Given the description of an element on the screen output the (x, y) to click on. 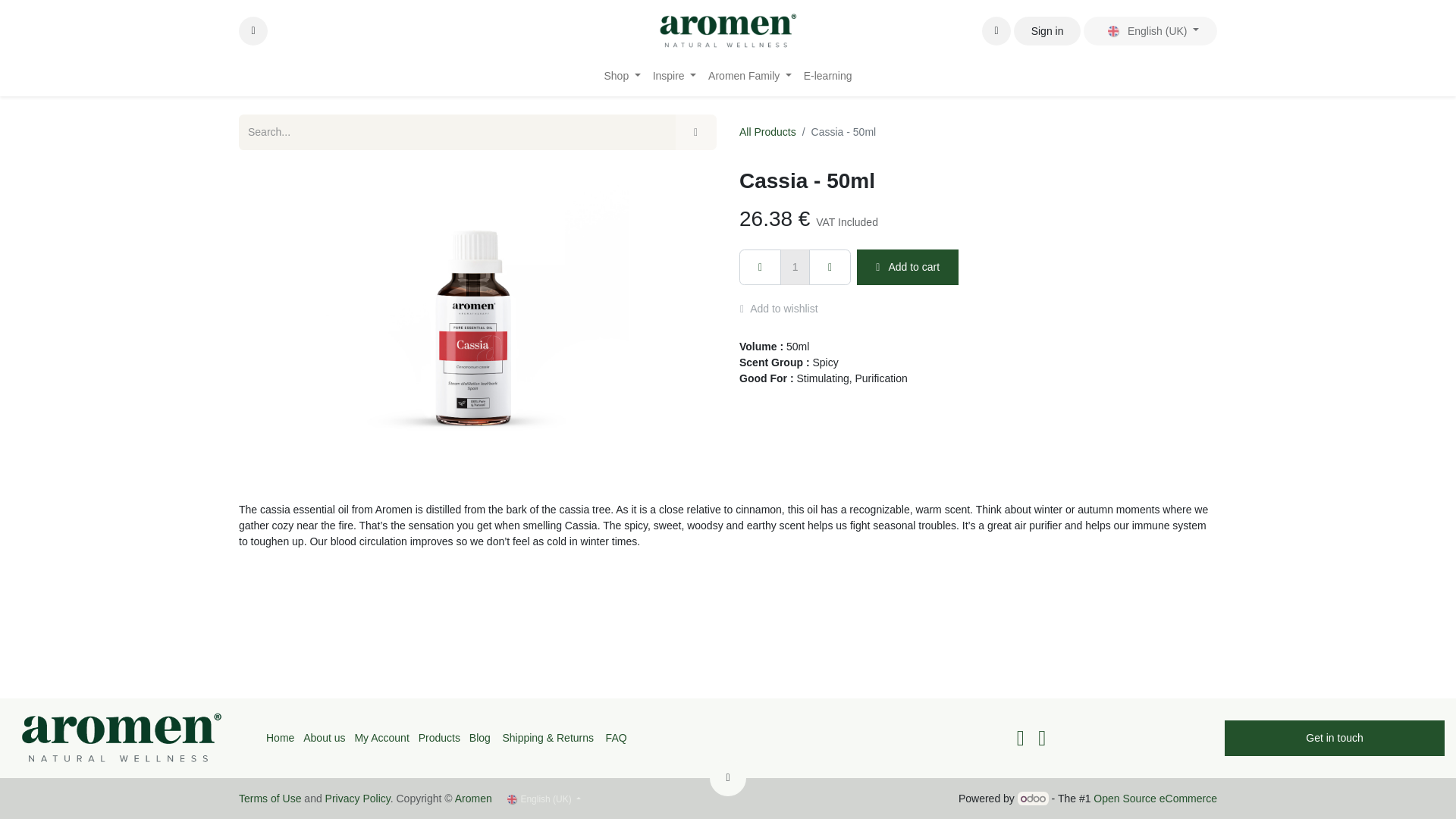
Shop (621, 76)
Add one (829, 267)
Inspire (673, 76)
E-learning (828, 76)
Add to wishlist (785, 308)
Remove one (759, 267)
Aromen B2C (727, 30)
Search (695, 131)
Sign in (1046, 30)
Aromen Family (749, 76)
